Given the description of an element on the screen output the (x, y) to click on. 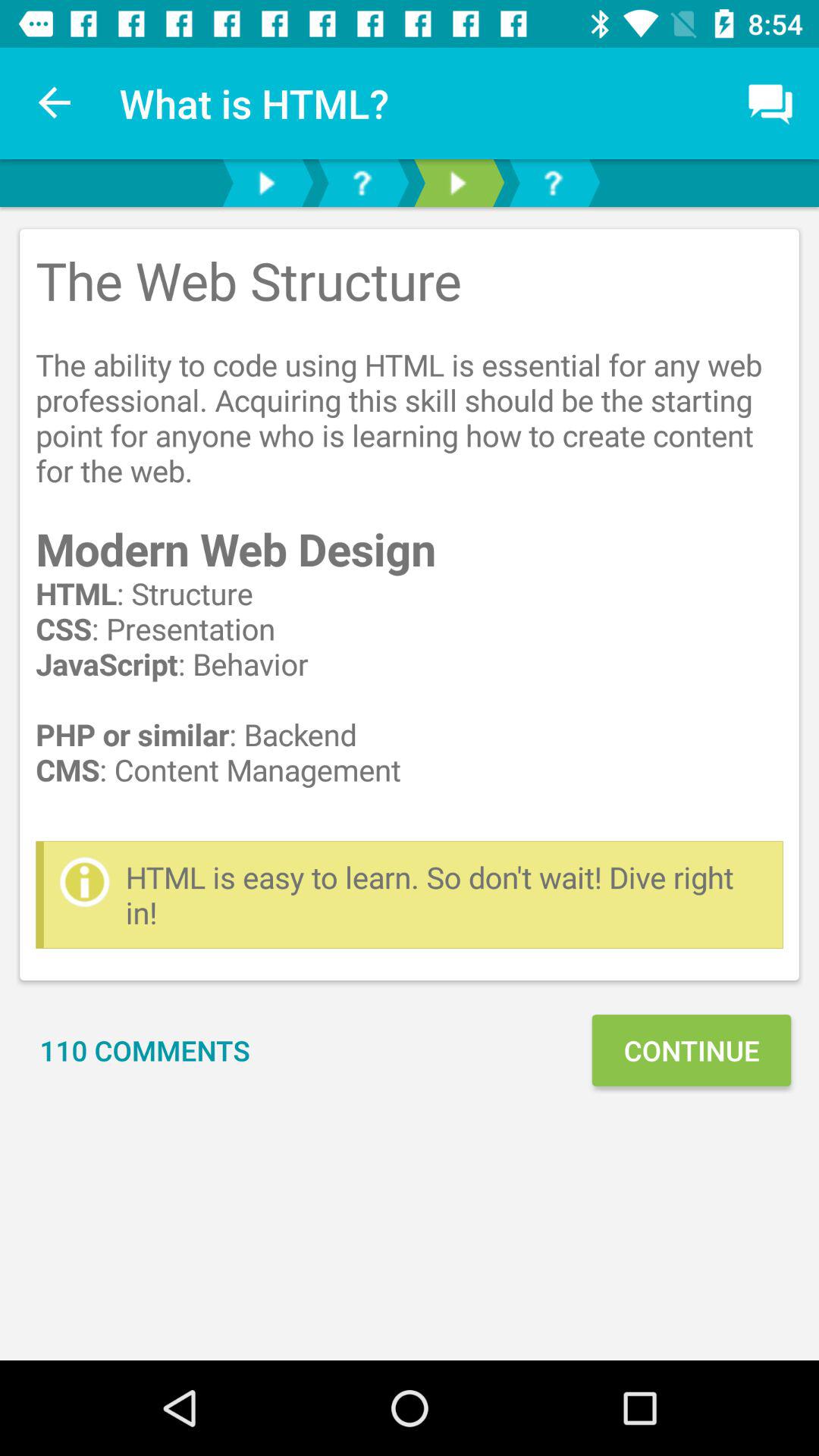
go to next (457, 183)
